Given the description of an element on the screen output the (x, y) to click on. 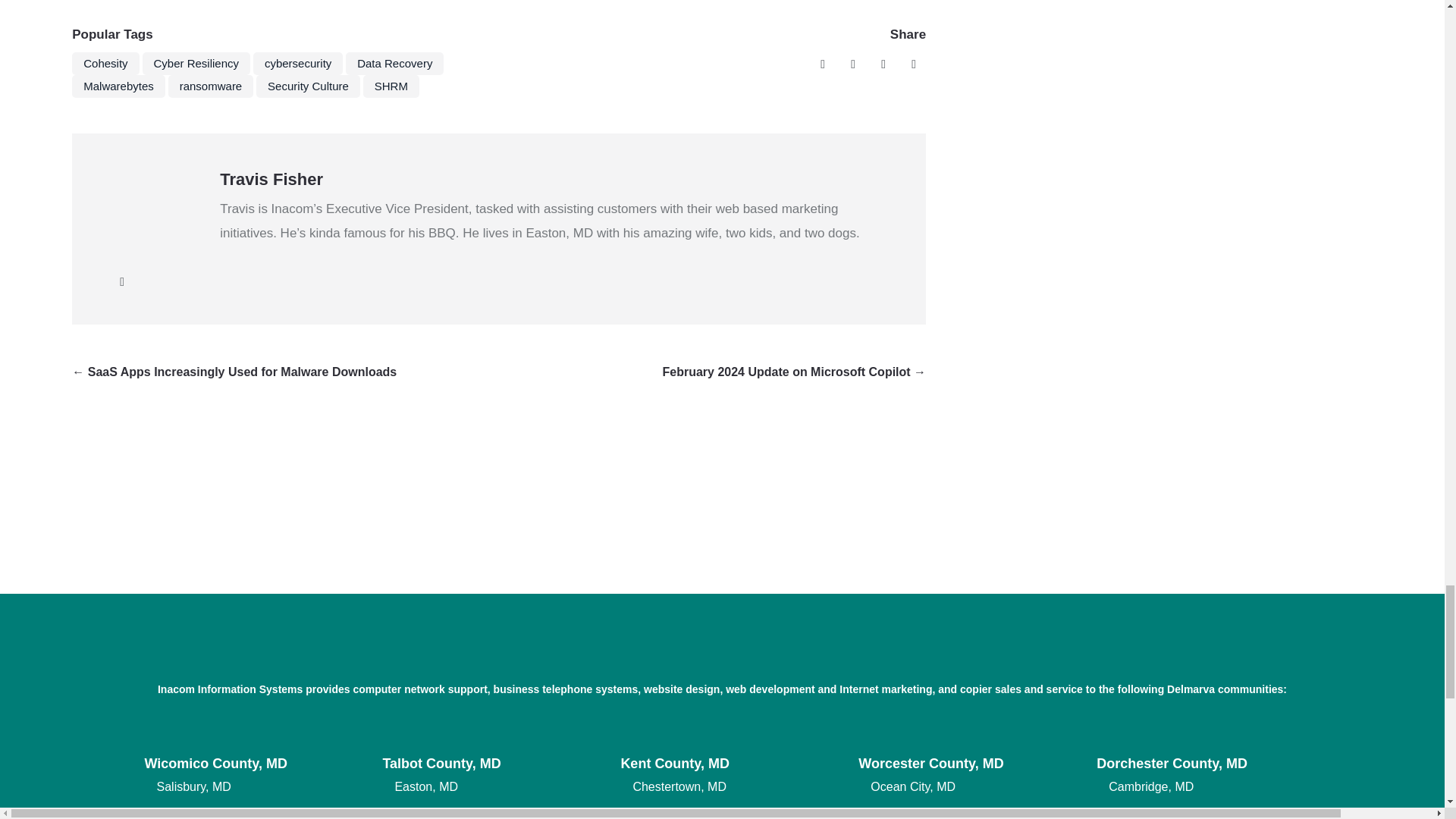
Follow on Facebook (822, 64)
Follow on Instagram (882, 64)
Follow on LinkedIn (121, 282)
Follow on X (852, 64)
Follow on LinkedIn (913, 64)
